Given the description of an element on the screen output the (x, y) to click on. 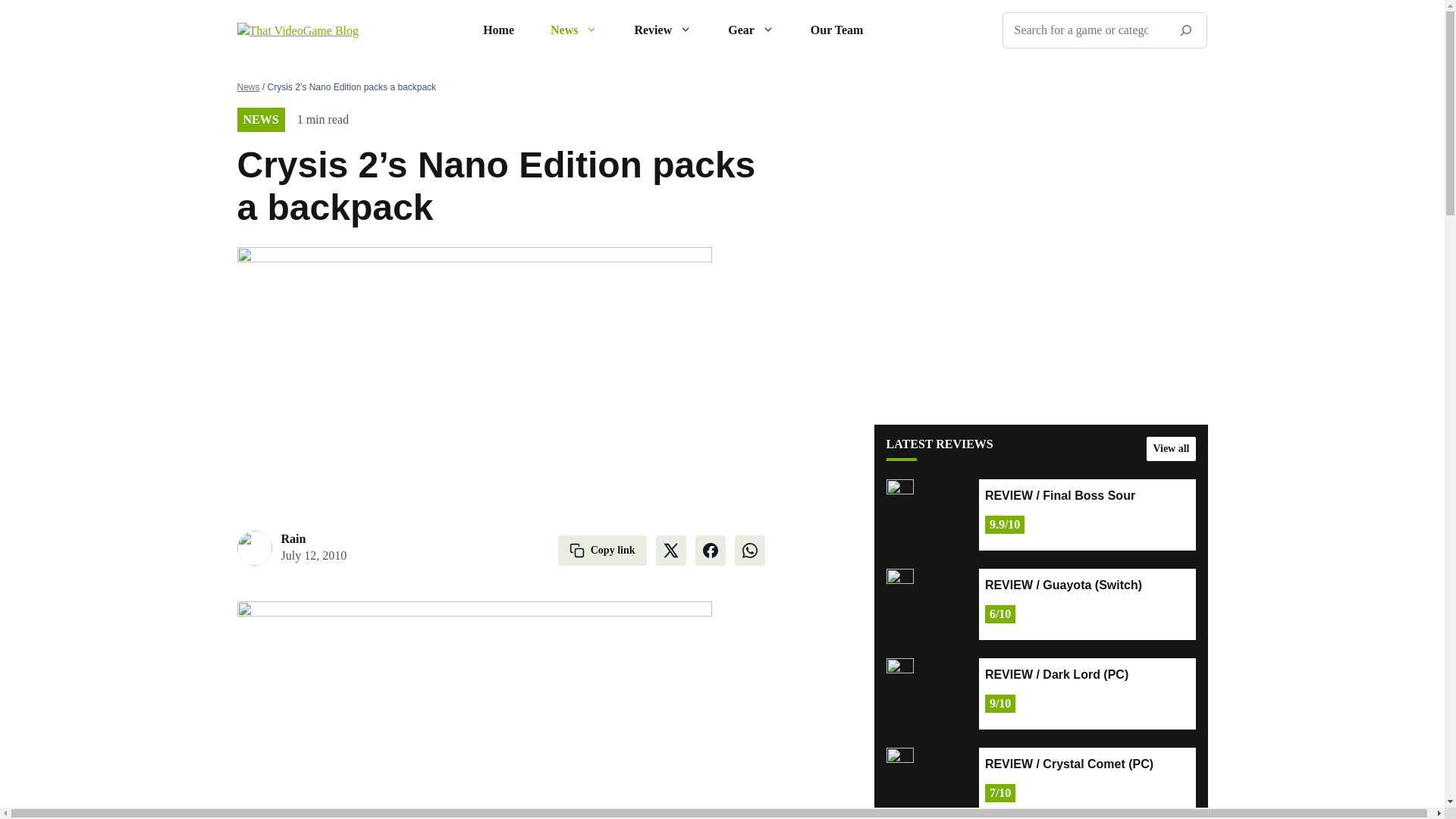
Gear (751, 29)
Review (662, 29)
Home (498, 29)
News (573, 29)
